Given the description of an element on the screen output the (x, y) to click on. 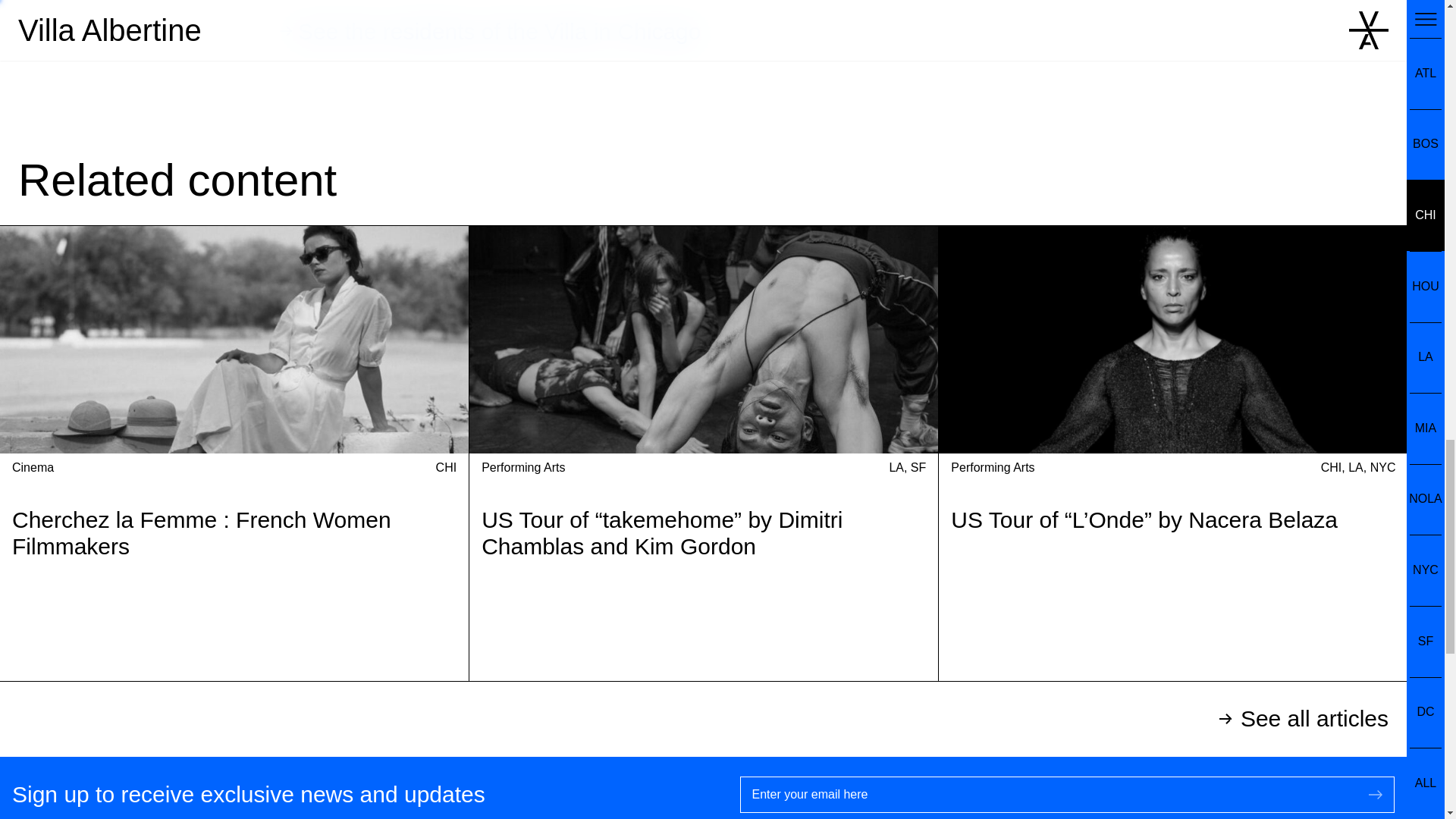
Submit (1375, 794)
See all articles (703, 718)
